Given the description of an element on the screen output the (x, y) to click on. 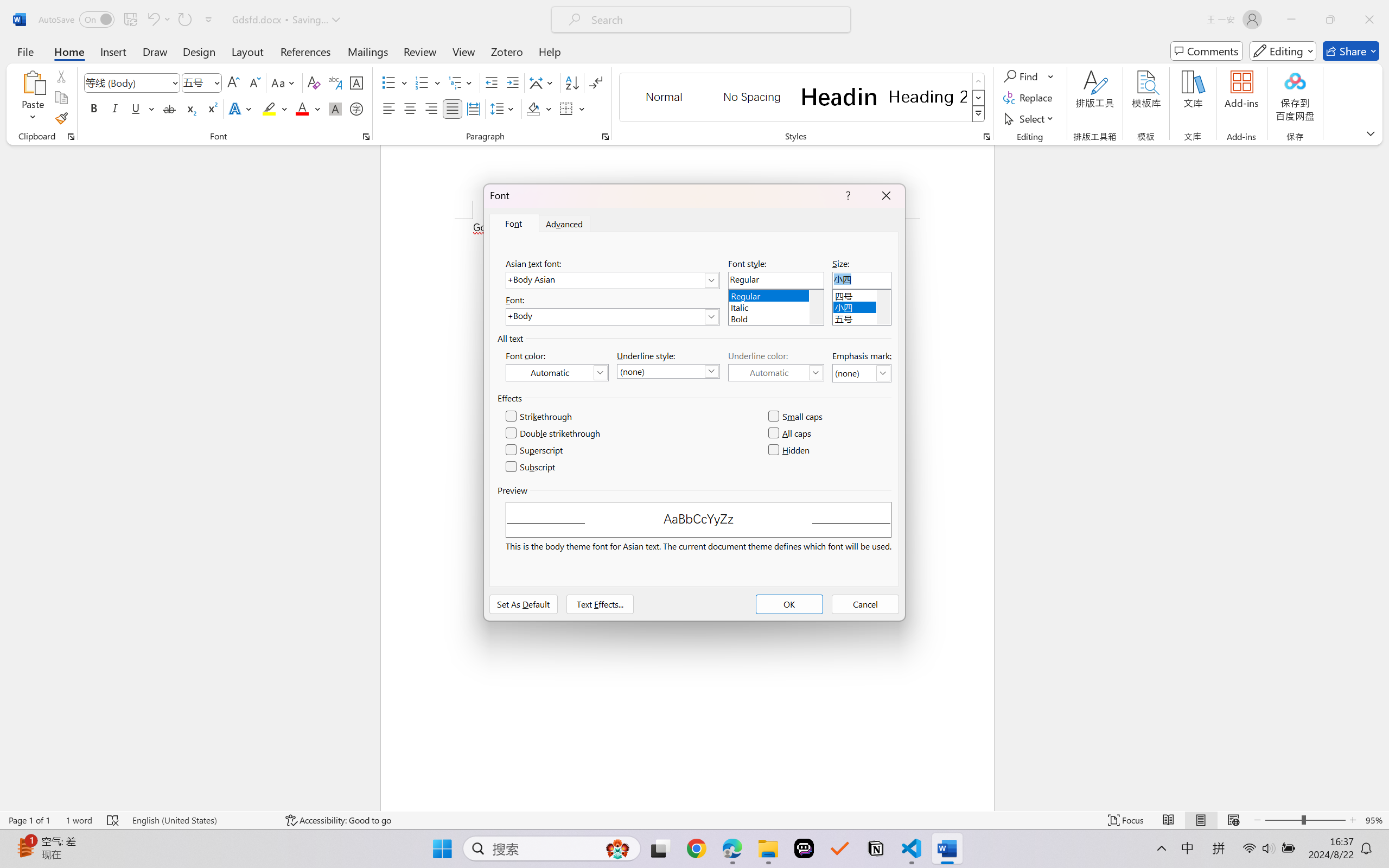
AutomationID: 1795 (815, 306)
RichEdit Control (861, 280)
Shading RGB(0, 0, 0) (533, 108)
Select (1030, 118)
